Given the description of an element on the screen output the (x, y) to click on. 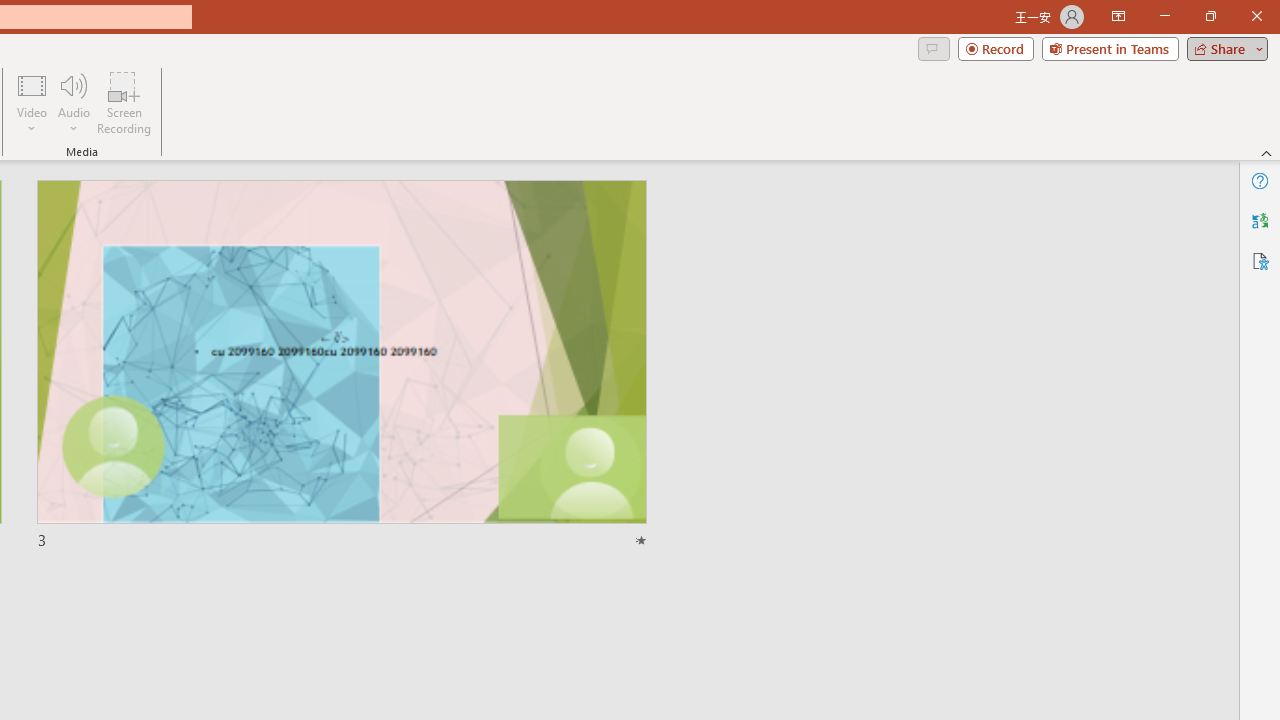
Translator (1260, 220)
Accessibility (1260, 260)
